Given the description of an element on the screen output the (x, y) to click on. 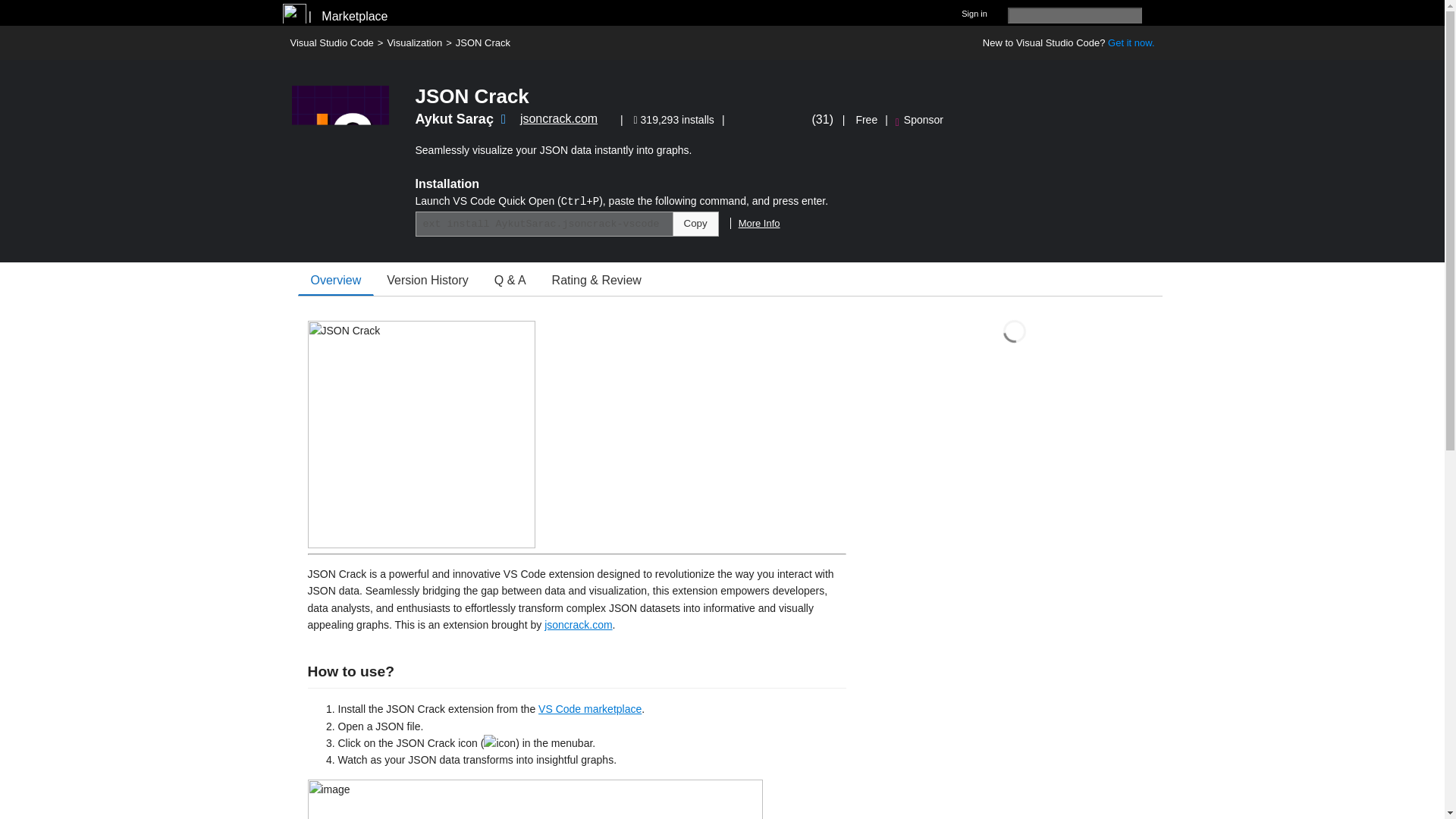
Sign in (973, 13)
Copy to clipboard (694, 223)
ext install AykutSarac.jsoncrack-vscode (543, 223)
Overview (335, 280)
More Info (755, 223)
The number of unique installations, not including updates. (675, 119)
Sponsor (919, 119)
Version History (427, 280)
Visual Studio Code (330, 42)
jsoncrack.com (577, 624)
